Given the description of an element on the screen output the (x, y) to click on. 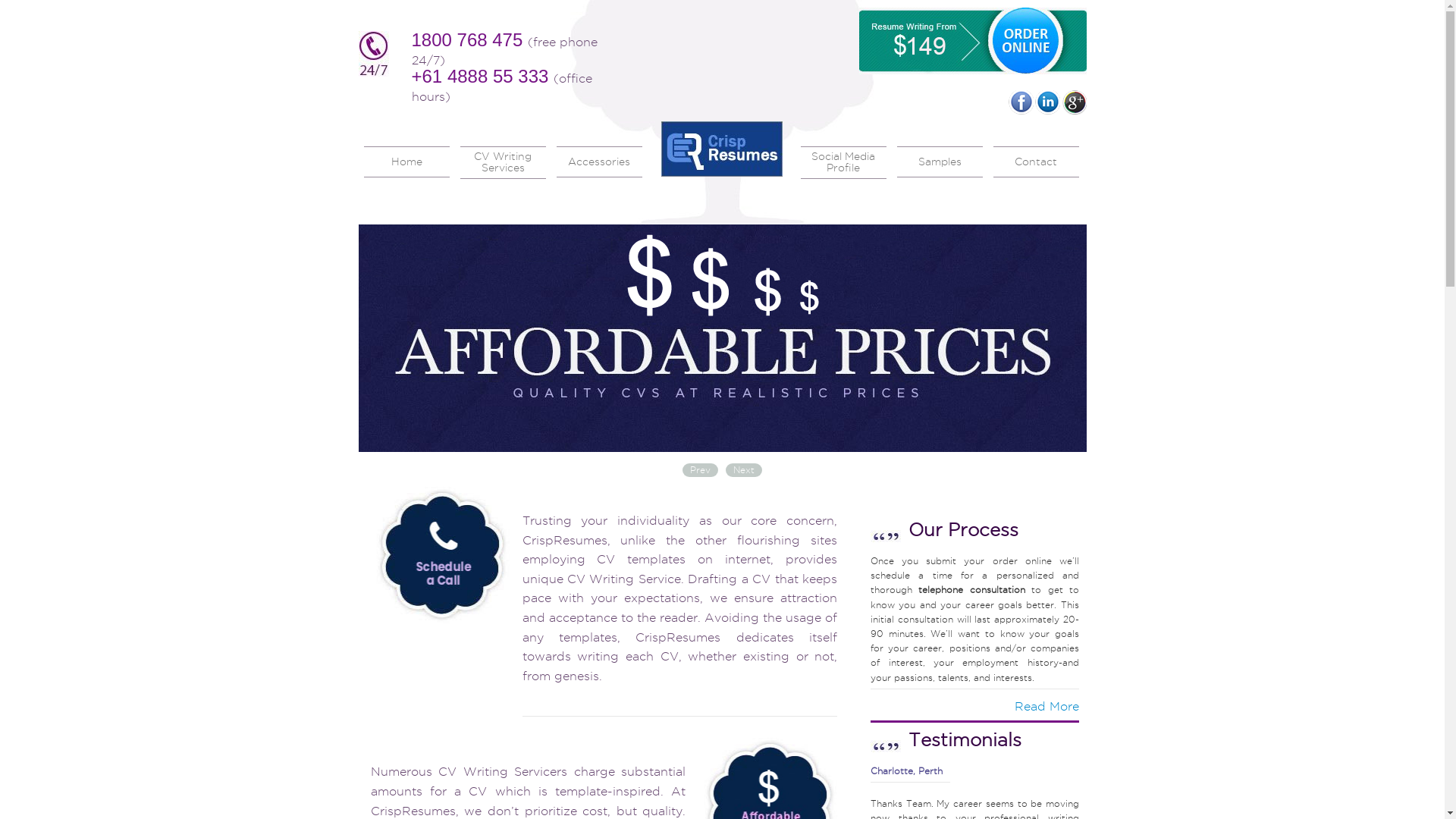
Google+ Element type: text (1073, 102)
Extra Element type: text (752, 160)
Accessories Element type: text (599, 161)
Resume Writing Services in Sydney Element type: hover (721, 337)
Contact Element type: text (1036, 161)
Linked in Element type: text (1046, 102)
Home Element type: text (406, 161)
Social Media Profile Element type: text (843, 162)
Facebook Element type: text (1020, 102)
Samples Element type: text (939, 161)
CV Writing Services Element type: text (502, 162)
Read More Element type: text (1046, 706)
